Given the description of an element on the screen output the (x, y) to click on. 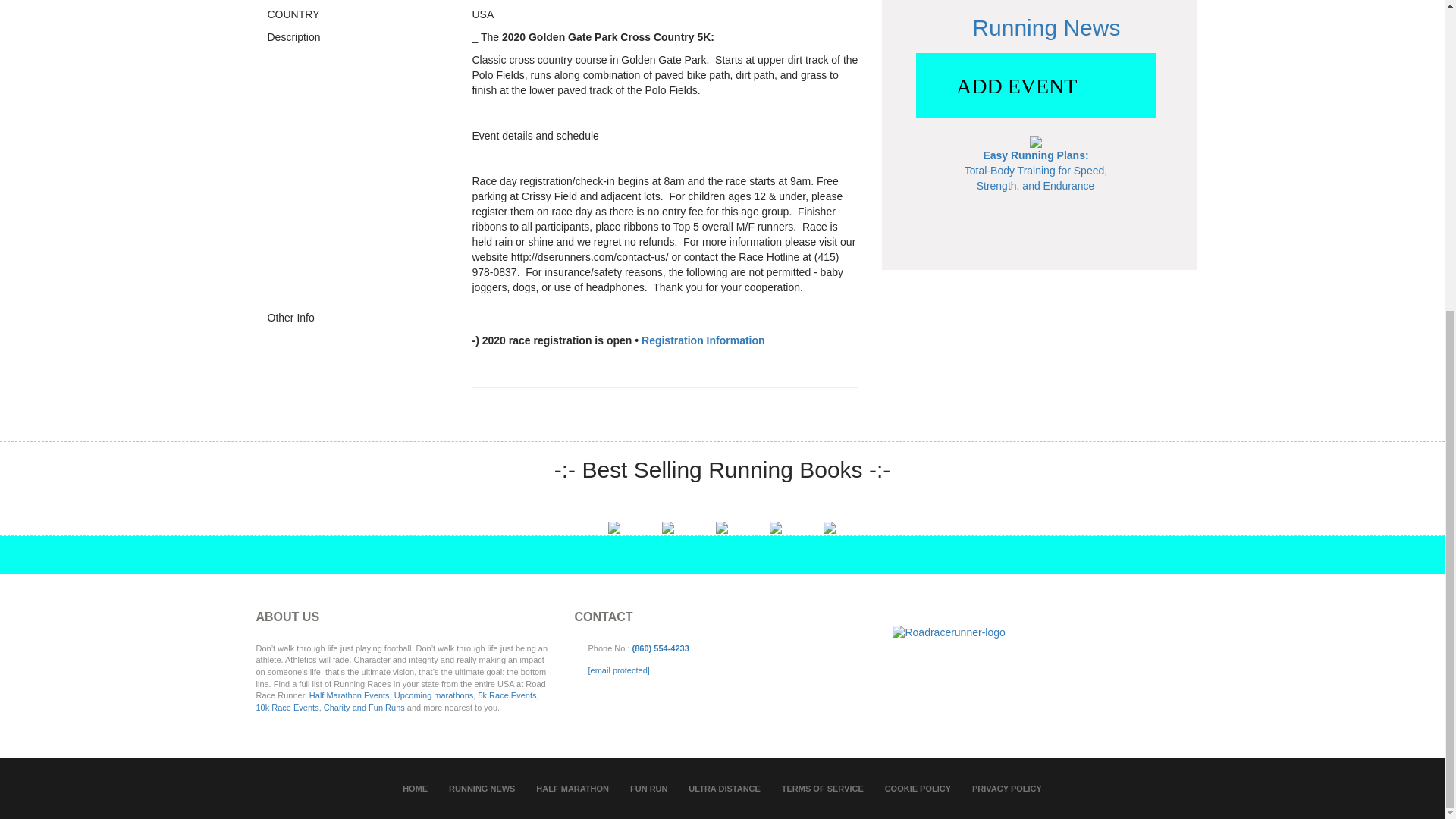
HALF MARATHON (571, 788)
Running News (1045, 27)
5k Race Events (506, 695)
FUN RUN (649, 788)
ADD EVENT (1035, 86)
10k Race Events (287, 706)
HOME (415, 788)
Half Marathon Events (349, 695)
Upcoming marathons (434, 695)
